Given the description of an element on the screen output the (x, y) to click on. 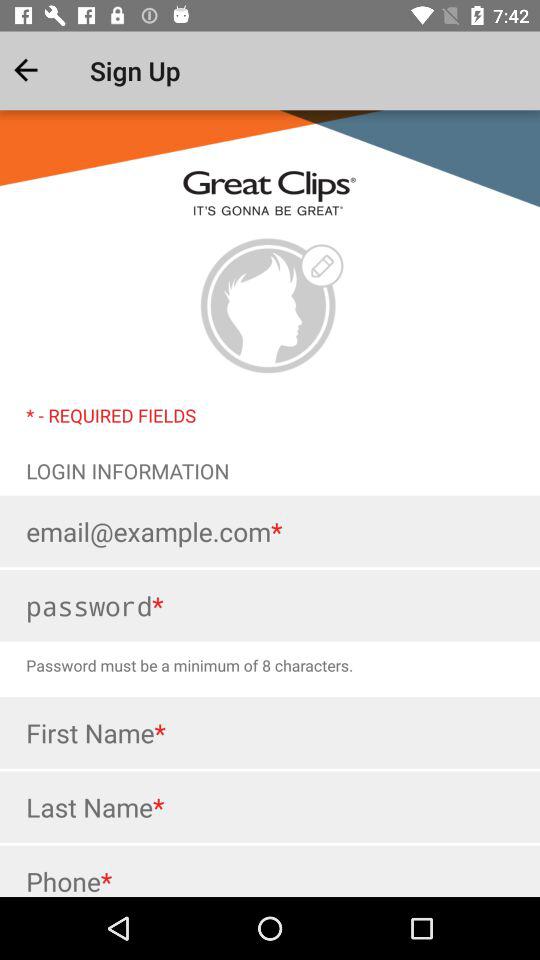
enter email address (269, 531)
